Given the description of an element on the screen output the (x, y) to click on. 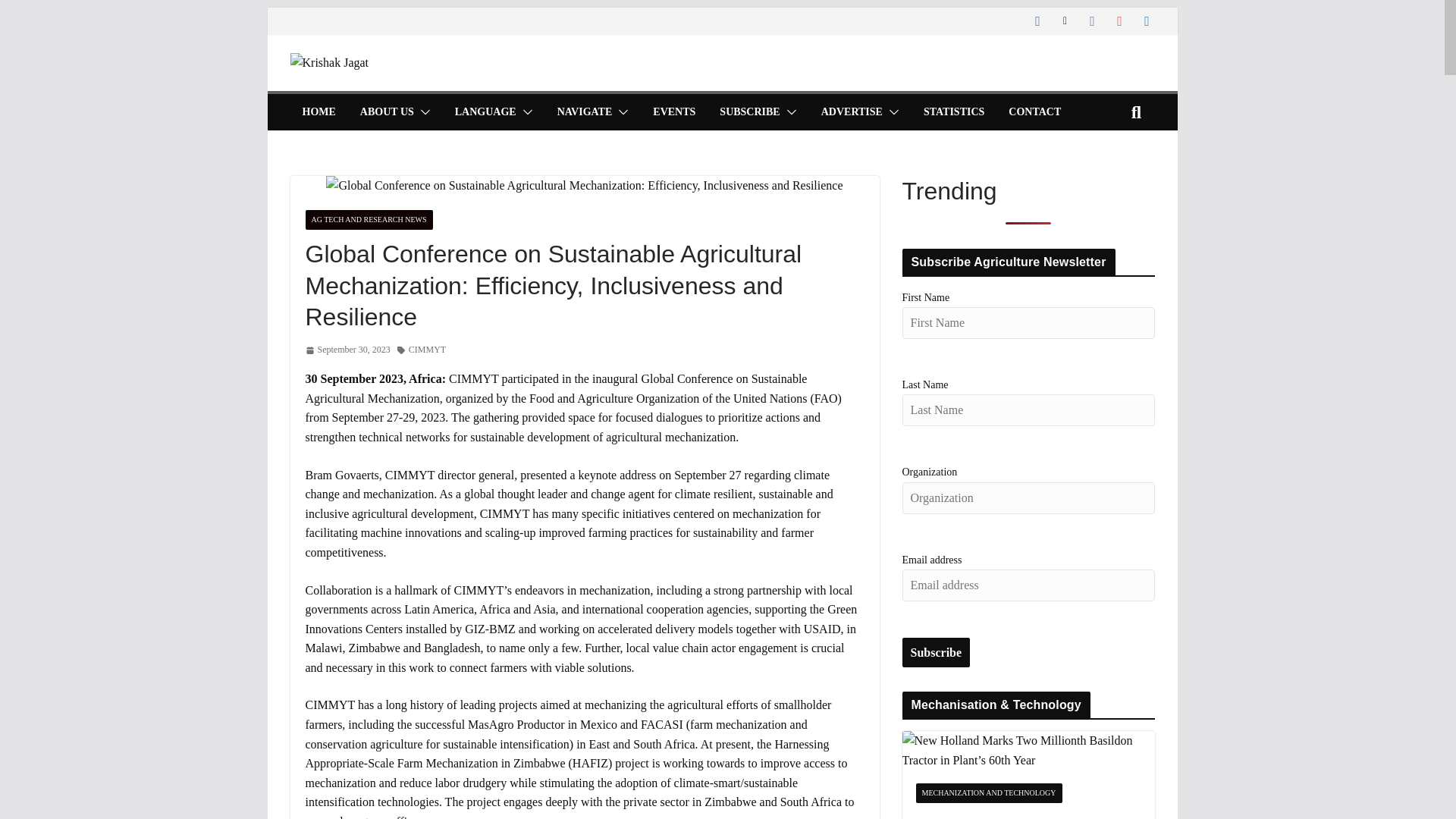
LANGUAGE (485, 111)
NAVIGATE (584, 111)
ADVERTISE (851, 111)
HOME (317, 111)
EVENTS (673, 111)
SUBSCRIBE (748, 111)
ABOUT US (386, 111)
4:17 pm (347, 350)
Subscribe (936, 653)
